Given the description of an element on the screen output the (x, y) to click on. 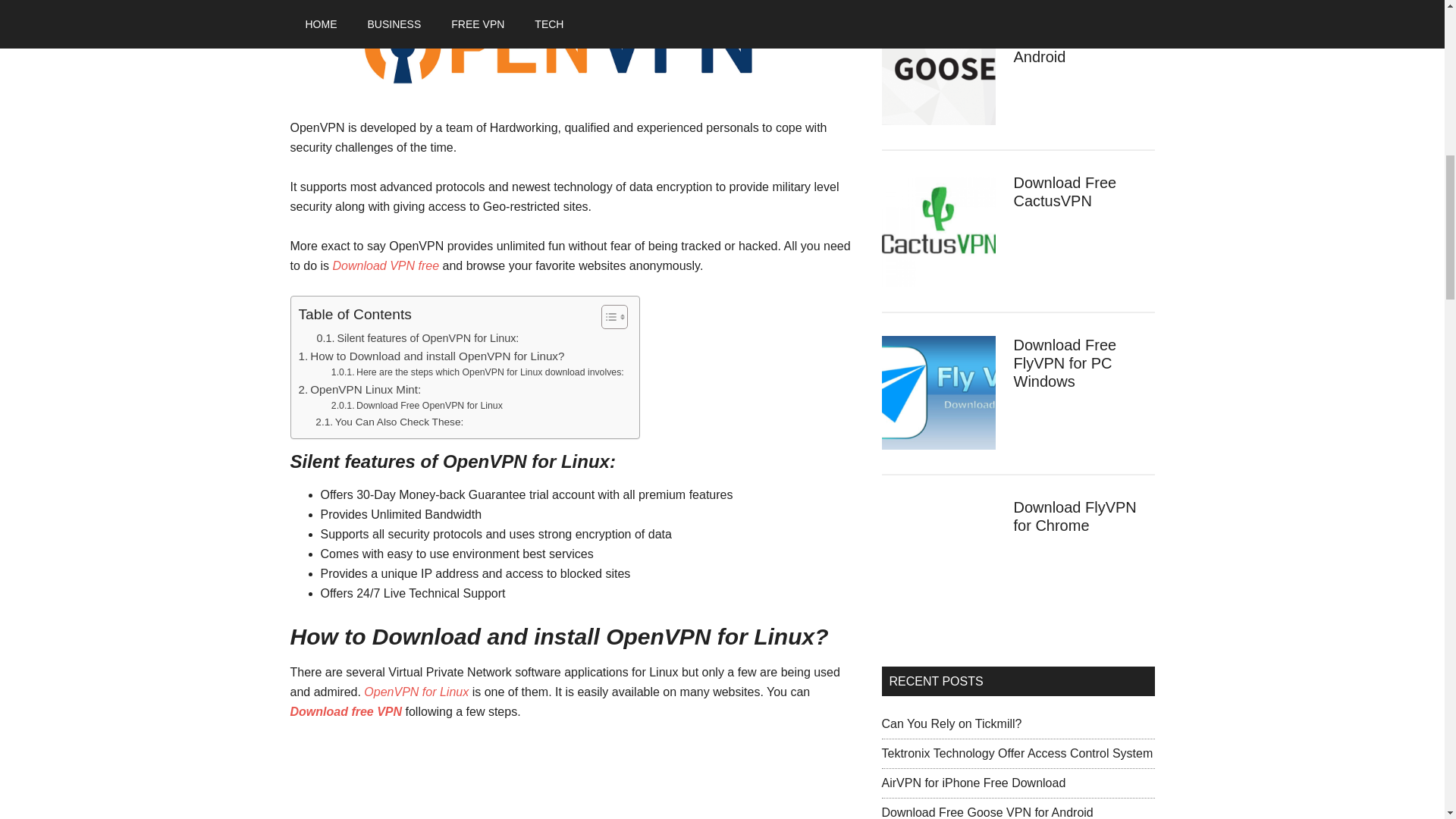
How to Download and install OpenVPN for Linux? (431, 356)
OpenVPN for Linux (416, 691)
How to Download and install OpenVPN for Linux? (431, 356)
Download VPN free (386, 265)
You Can Also Check These:   (391, 422)
Silent features of OpenVPN for Linux: (418, 338)
Silent features of OpenVPN for Linux: (418, 338)
OpenVPN Linux Mint: (360, 389)
Download free VPN (345, 711)
Download Free OpenVPN for Linux (416, 406)
OpenVPN Linux Mint: (360, 389)
OpenVPN for Linux (574, 49)
Download Free OpenVPN for Linux (416, 406)
